Given the description of an element on the screen output the (x, y) to click on. 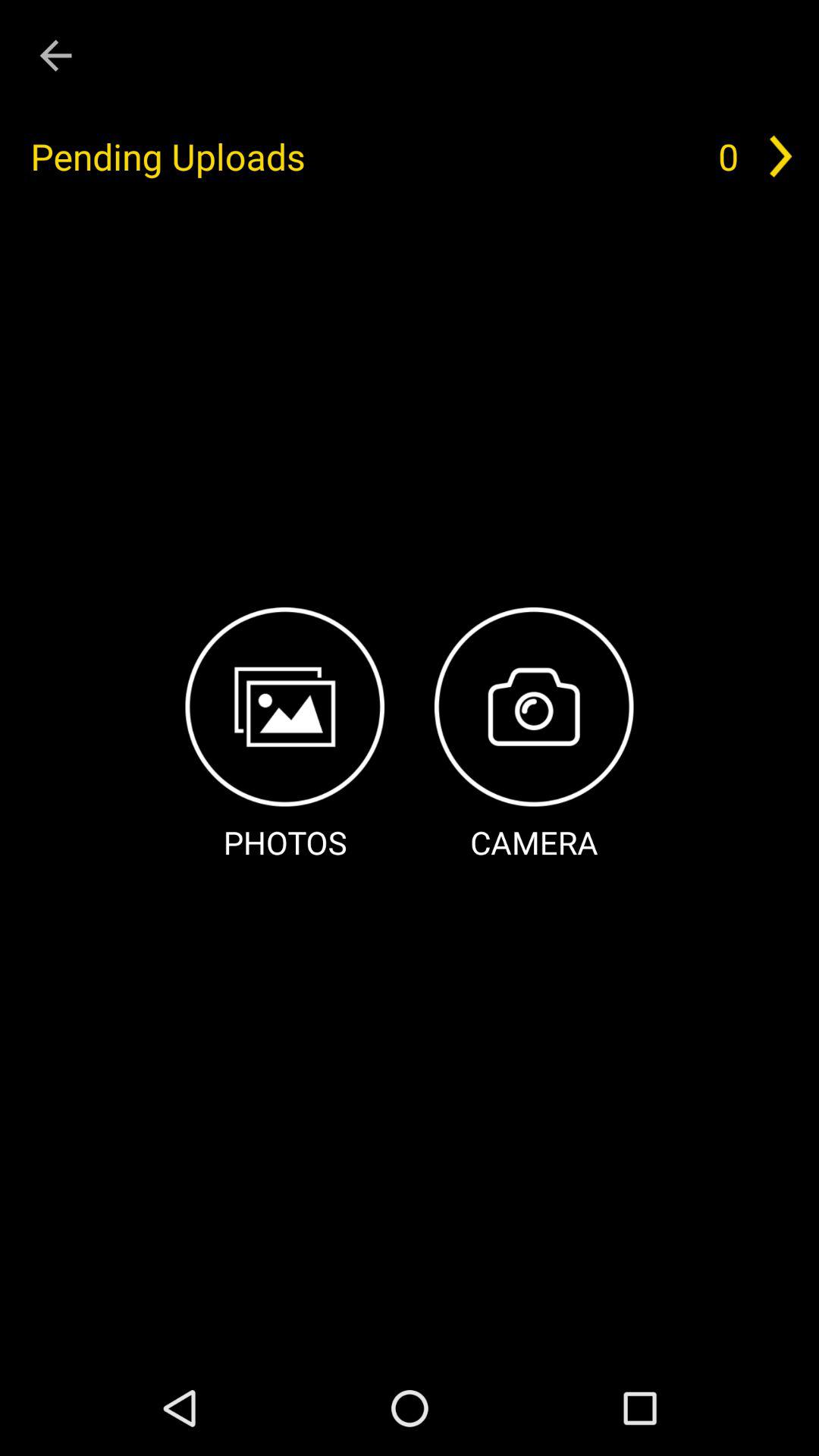
turn off icon to the right of photos (533, 735)
